Given the description of an element on the screen output the (x, y) to click on. 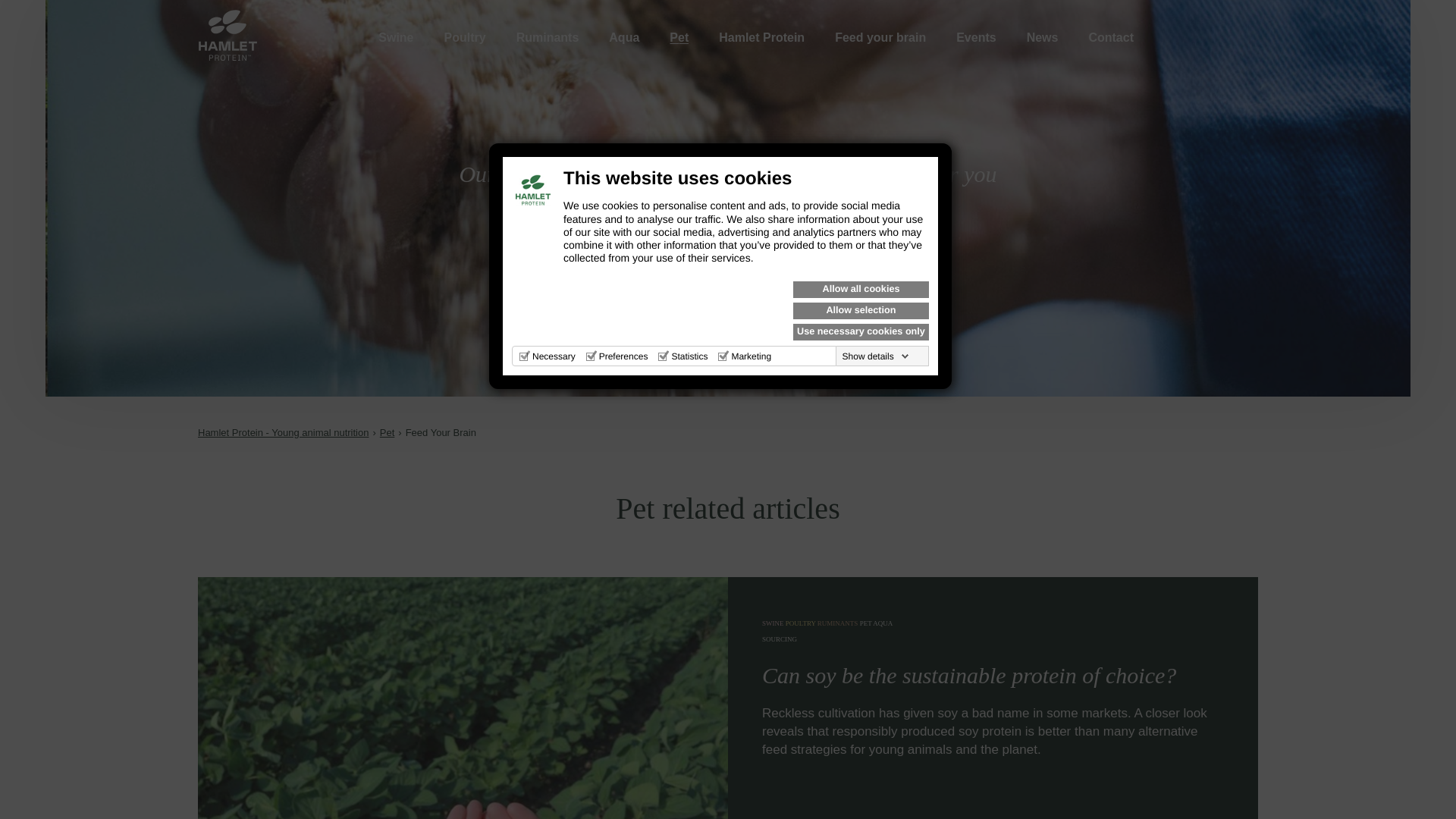
Show details (876, 356)
Allow all cookies (860, 289)
Use necessary cookies only (860, 331)
Allow selection (860, 310)
